Given the description of an element on the screen output the (x, y) to click on. 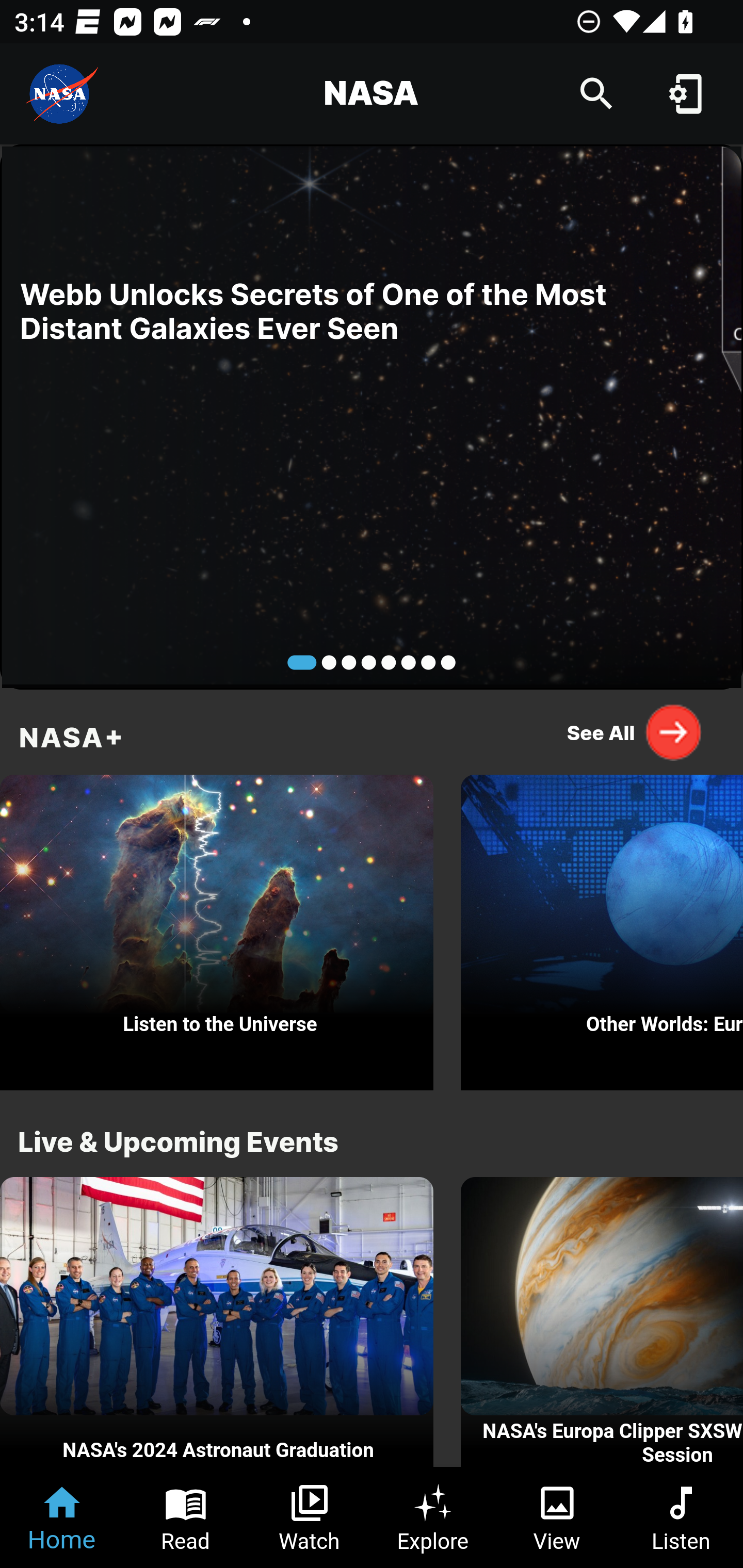
See All (634, 732)
Listen to the Universe (216, 927)
Other Worlds: Europa (601, 927)
NASA's 2024 Astronaut Graduation (216, 1322)
NASA's Europa Clipper SXSW 2024 Opening Session (601, 1322)
Home
Tab 1 of 6 (62, 1517)
Read
Tab 2 of 6 (185, 1517)
Watch
Tab 3 of 6 (309, 1517)
Explore
Tab 4 of 6 (433, 1517)
View
Tab 5 of 6 (556, 1517)
Listen
Tab 6 of 6 (680, 1517)
